Given the description of an element on the screen output the (x, y) to click on. 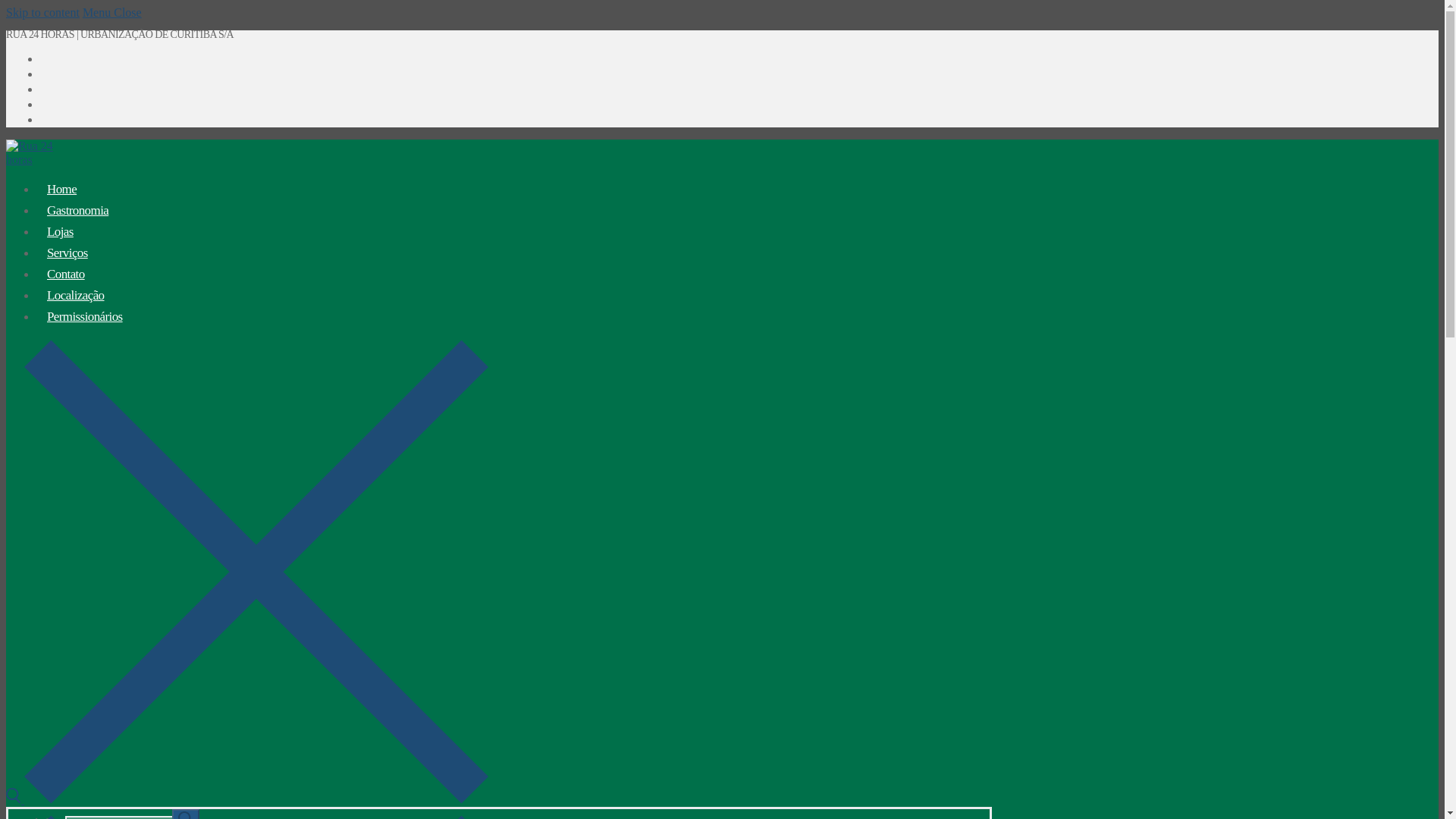
Lojas (60, 231)
Search for: (132, 817)
Menu Close (111, 11)
Home (61, 189)
Skip to content (42, 11)
Gastronomia (77, 210)
Contato (66, 273)
